Given the description of an element on the screen output the (x, y) to click on. 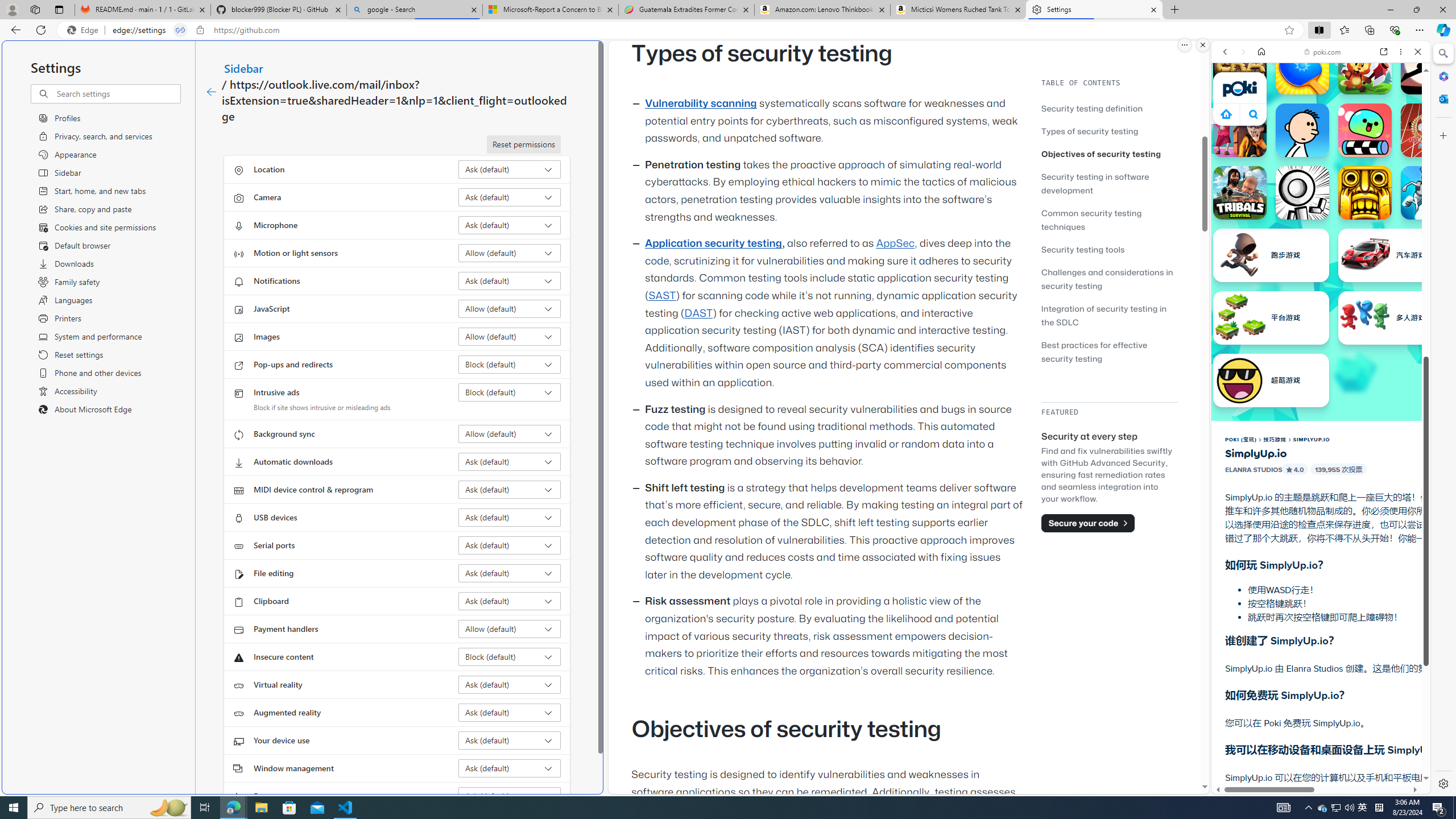
Payment handlers Allow (default) (509, 628)
SIMPLYUP.IO (1311, 439)
Sports Games (1320, 378)
Poki (1315, 754)
Show More Two Player Games (1390, 323)
Vulnerability scanning (701, 103)
100 Metres Race (1427, 130)
Search results from poki.com (1299, 443)
Images Allow (default) (509, 336)
